Given the description of an element on the screen output the (x, y) to click on. 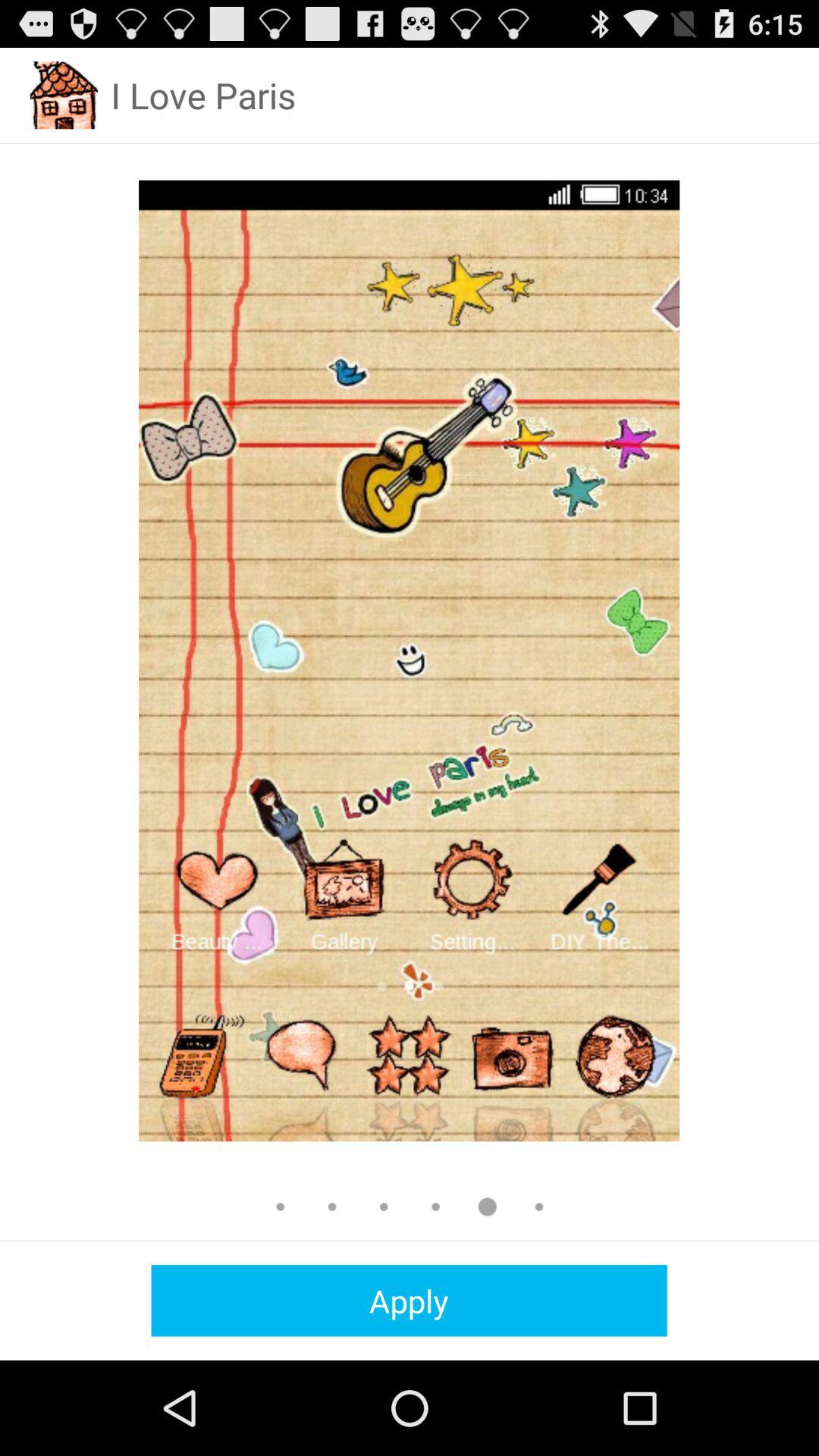
flip until the apply item (409, 1300)
